Given the description of an element on the screen output the (x, y) to click on. 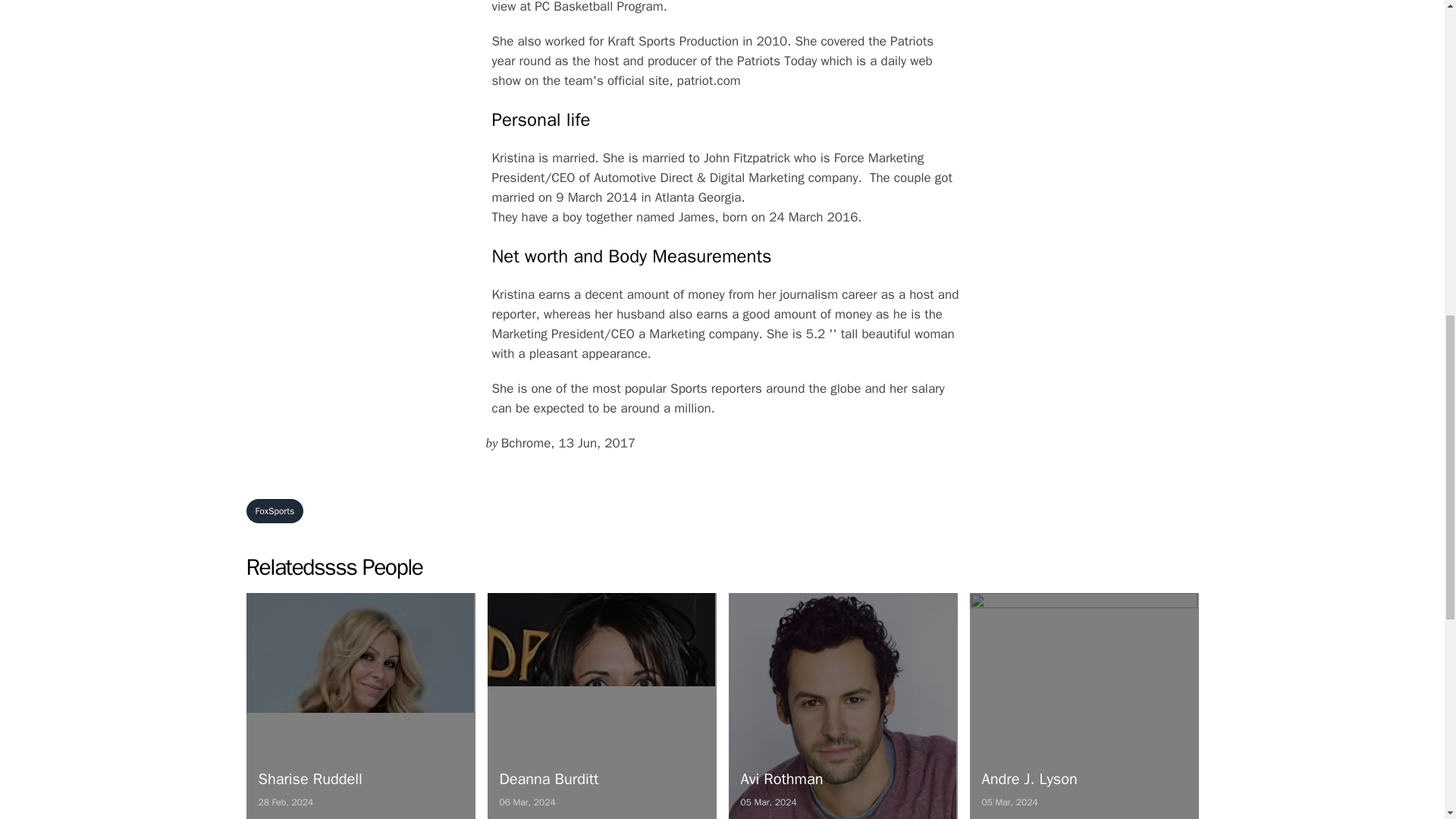
FoxSports (360, 705)
